Given the description of an element on the screen output the (x, y) to click on. 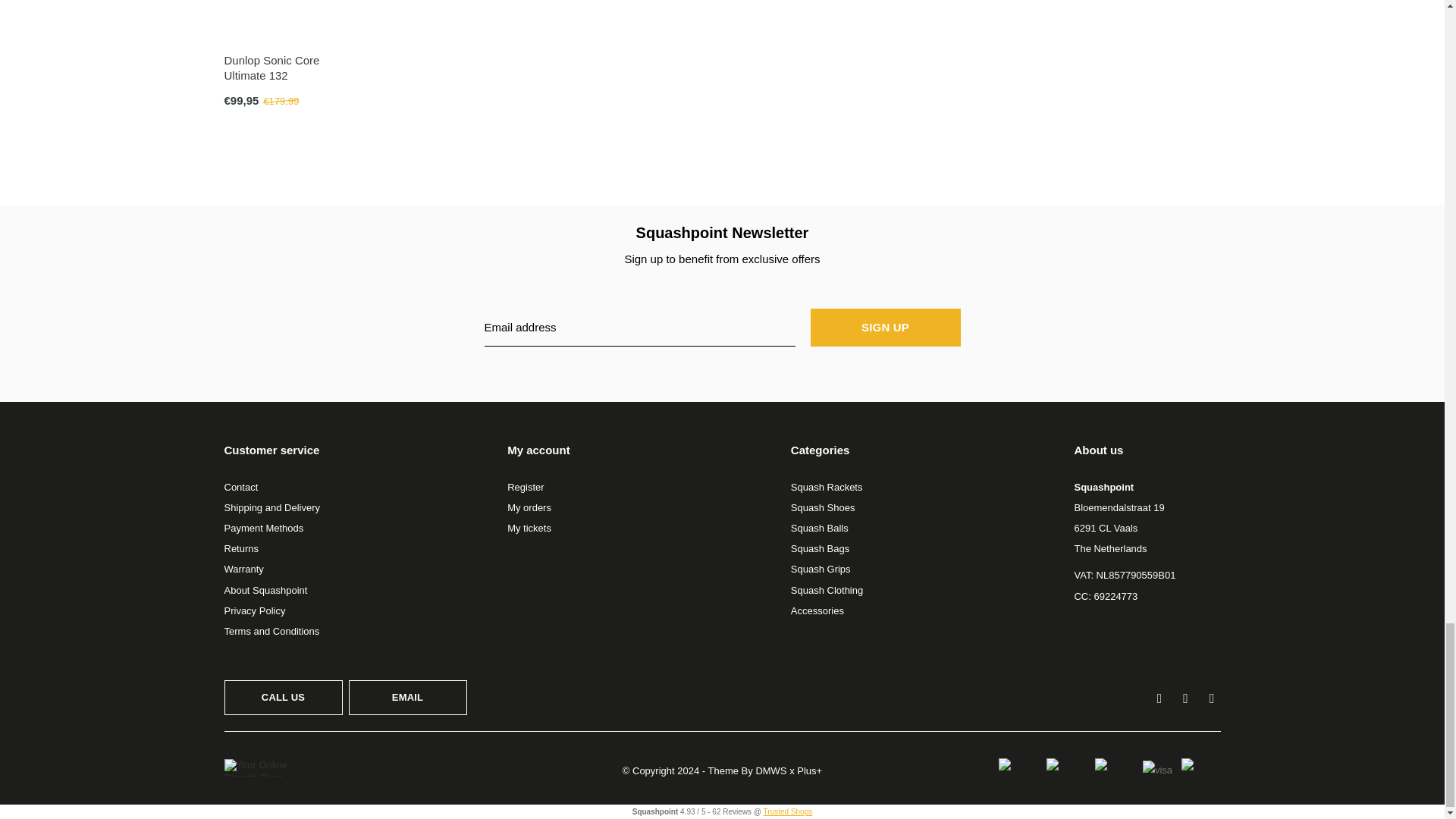
Register (524, 487)
My orders (528, 507)
My tickets (528, 527)
